Given the description of an element on the screen output the (x, y) to click on. 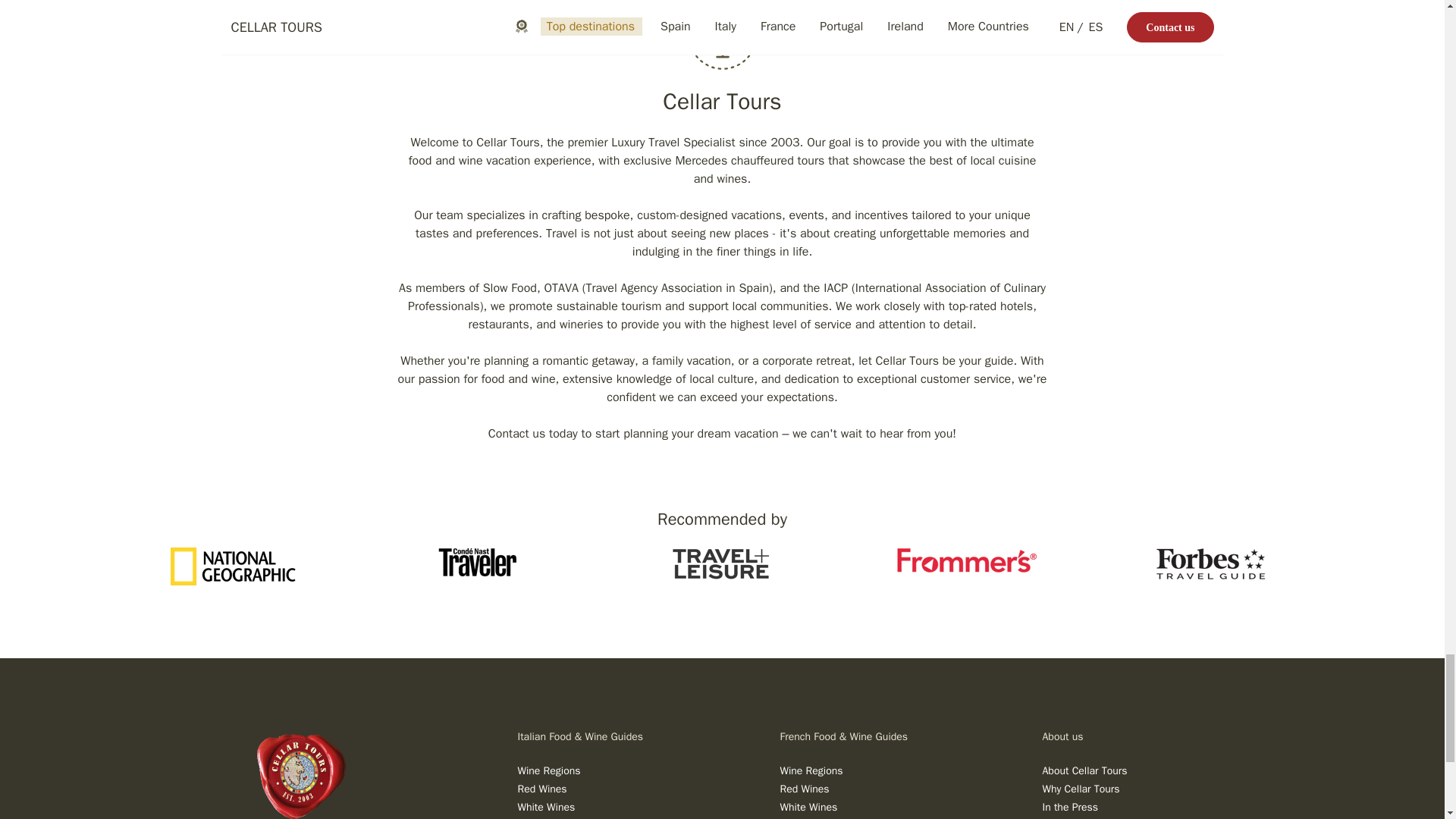
A Guide to French Red Wines (803, 788)
A Guide to French White Wines (807, 807)
A Guide to French Wine Regions (810, 770)
A Guide to Italian White Wines (545, 807)
A Guide to Italian Red Wines (541, 788)
A Guide to Italian Wine Regions (547, 770)
